Given the description of an element on the screen output the (x, y) to click on. 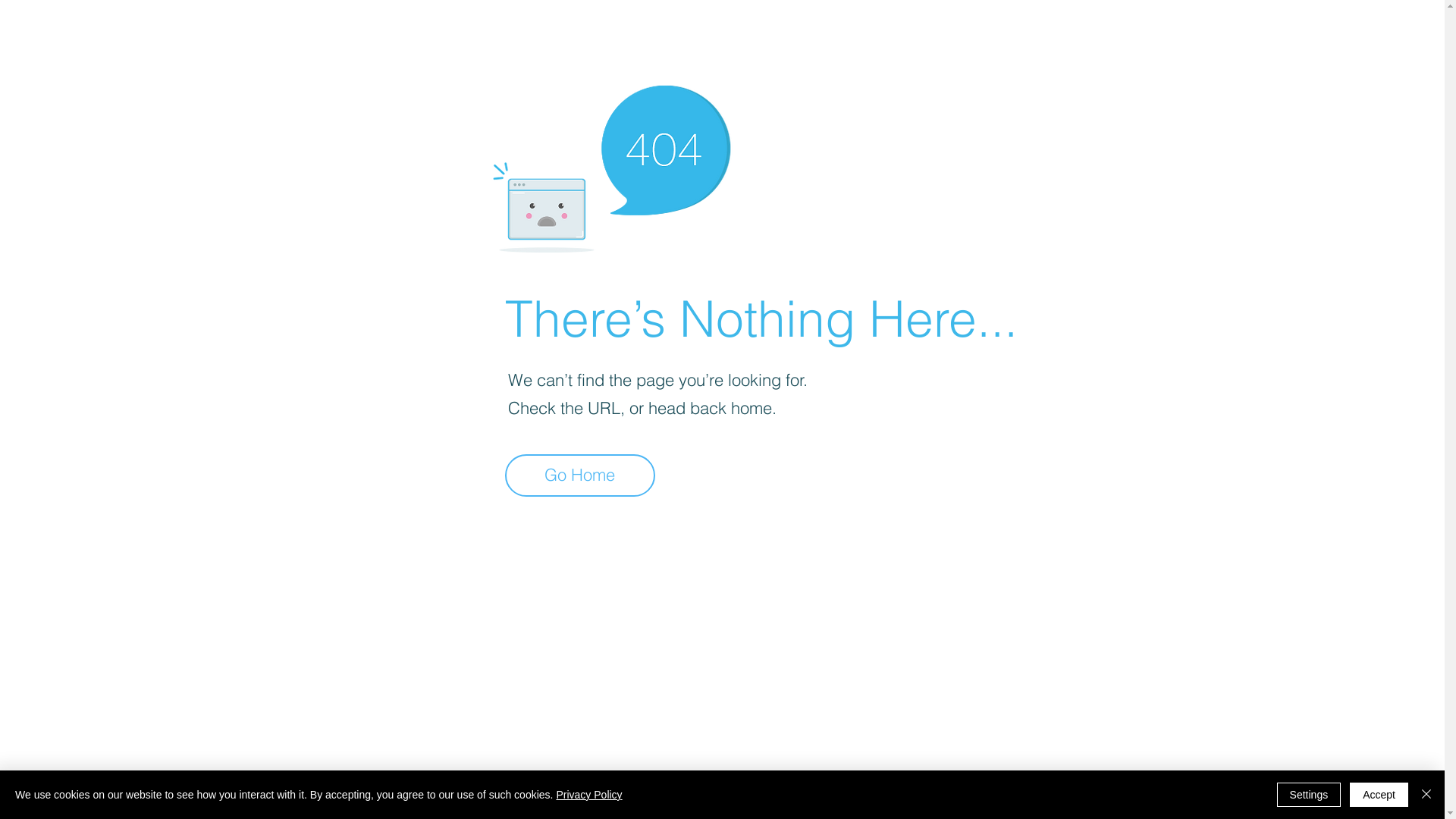
Accept Element type: text (1378, 794)
Go Home Element type: text (580, 475)
Privacy Policy Element type: text (588, 794)
404-icon_2.png Element type: hover (610, 164)
Settings Element type: text (1309, 794)
